Given the description of an element on the screen output the (x, y) to click on. 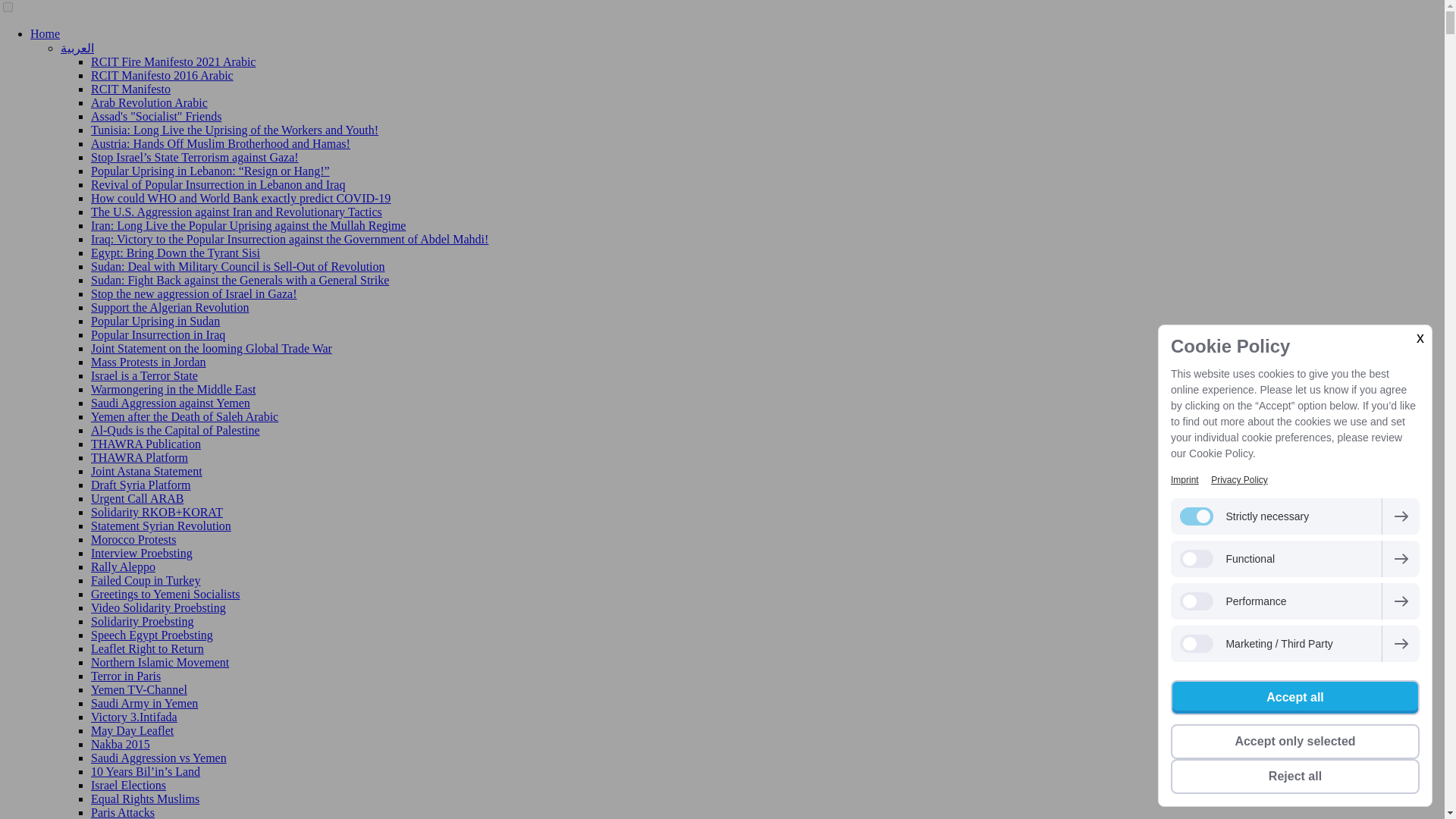
Revival of Popular Insurrection in Lebanon and Iraq (217, 184)
Austria: Hands Off Muslim Brotherhood and Hamas! (220, 143)
Assad's "Socialist" Friends (155, 115)
Popular Insurrection in Iraq (157, 334)
Support the Algerian Revolution (169, 307)
Yemen after the Death of Saleh Arabic (184, 416)
How could WHO and World Bank exactly predict COVID-19 (240, 197)
Tunisia: Long Live the Uprising of the Workers and Youth! (234, 129)
Urgent Call ARAB (136, 498)
RCIT Manifesto 2016 Arabic (161, 74)
Arab Revolution Arabic (149, 102)
Stop the new aggression of Israel in Gaza! (193, 293)
The U.S. Aggression against Iran and Revolutionary Tactics (235, 211)
